Given the description of an element on the screen output the (x, y) to click on. 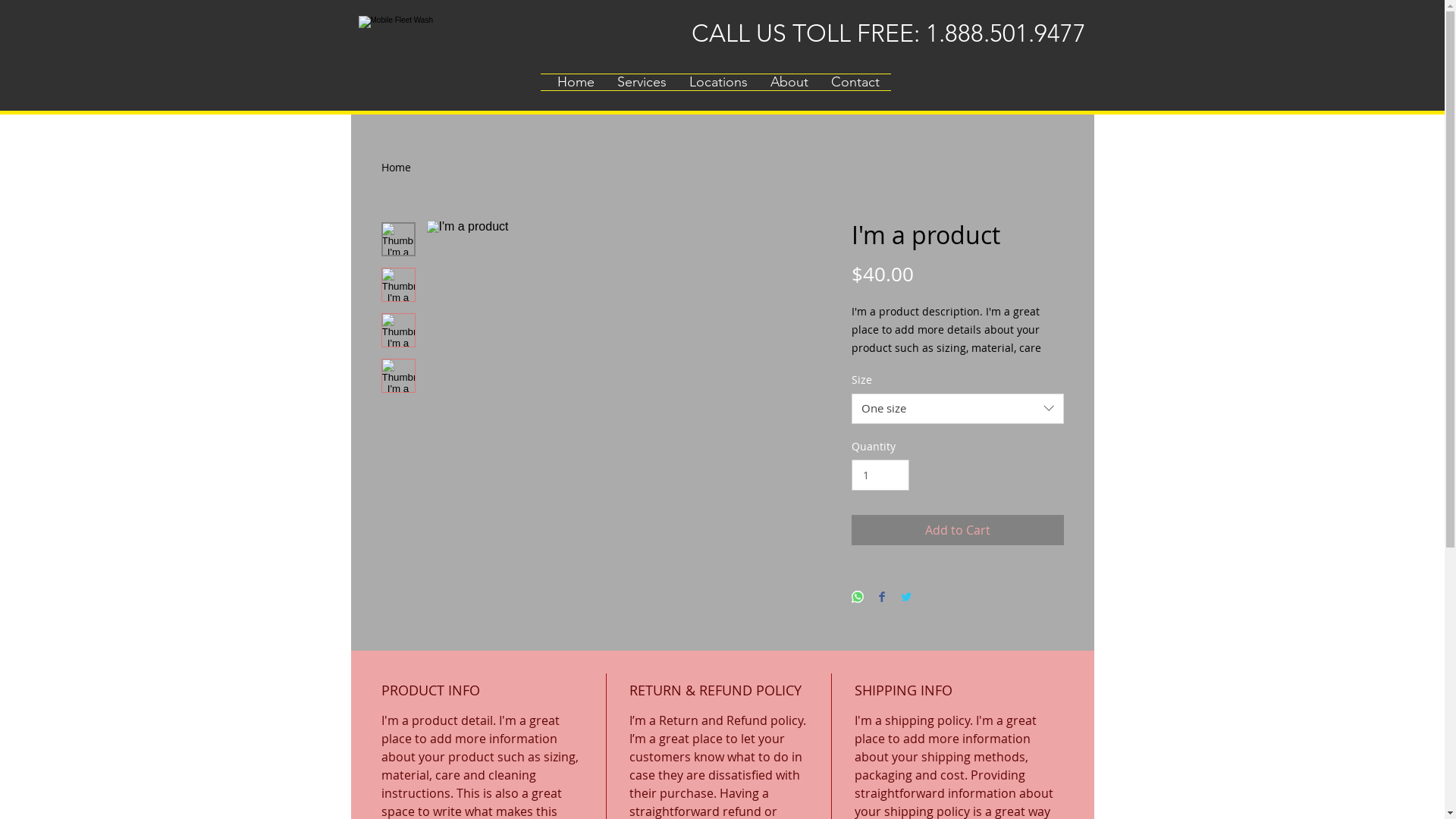
Services Element type: text (641, 82)
Home Element type: text (395, 167)
One size Element type: text (956, 408)
Home Element type: text (575, 82)
Contact Element type: text (854, 82)
About Element type: text (788, 82)
Locations Element type: text (718, 82)
Add to Cart Element type: text (956, 529)
